Given the description of an element on the screen output the (x, y) to click on. 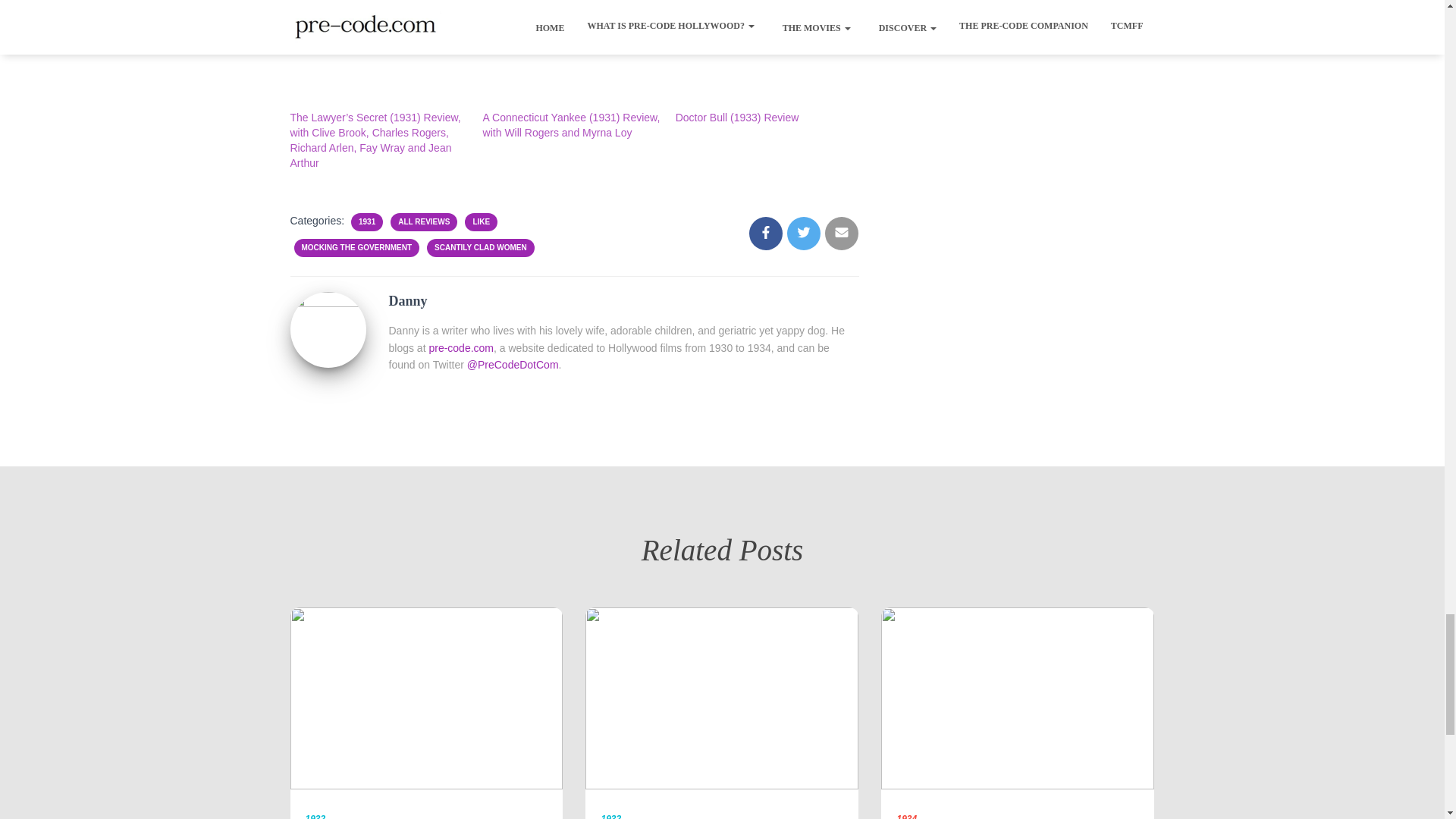
SCANTILY CLAD WOMEN (480, 247)
MOCKING THE GOVERNMENT (356, 247)
LIKE (480, 222)
1931 (366, 222)
ALL REVIEWS (423, 222)
